Given the description of an element on the screen output the (x, y) to click on. 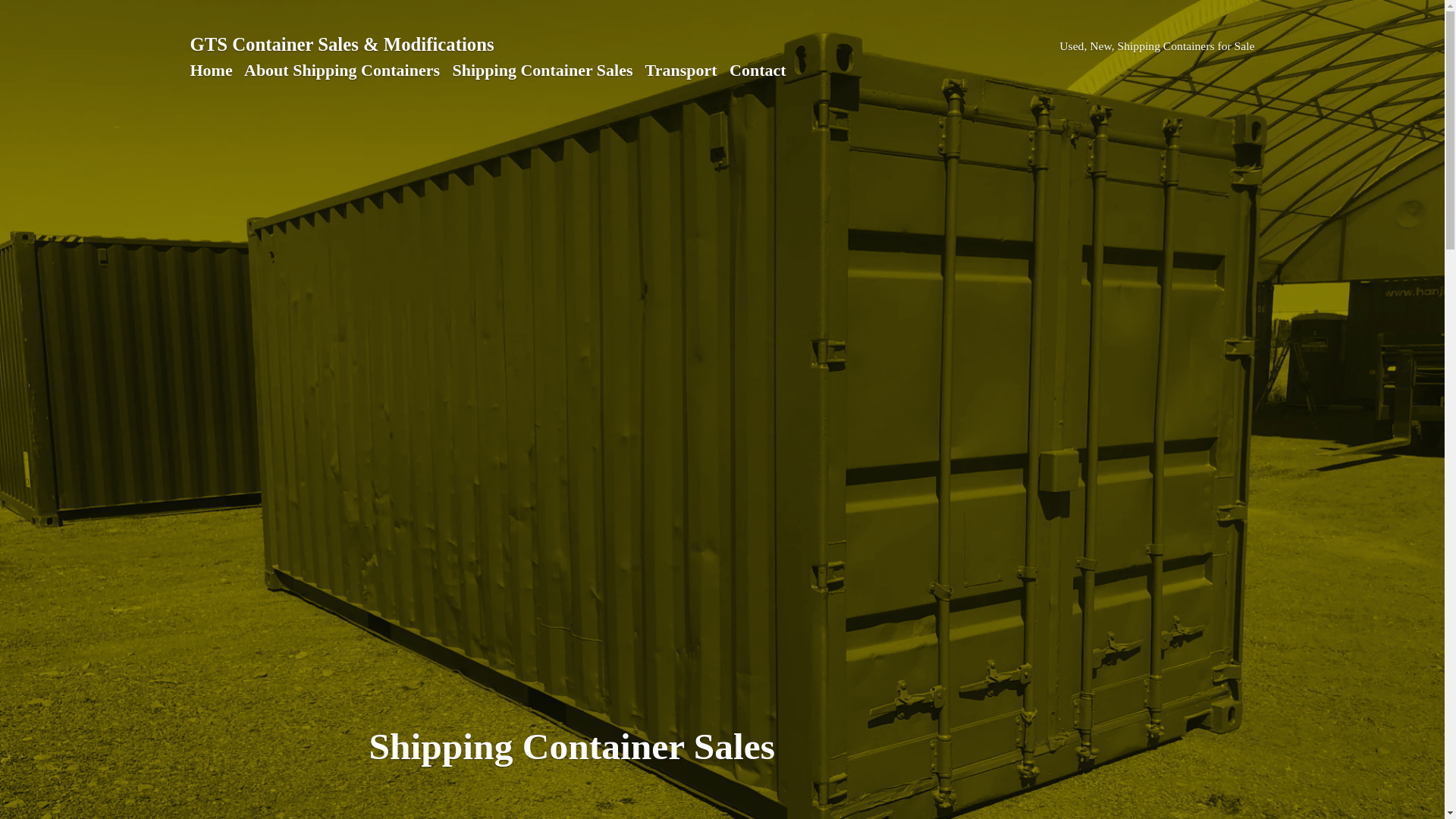
GTS Container Sales & Modifications Element type: text (341, 44)
Home Element type: text (210, 69)
About Shipping Containers Element type: text (341, 69)
Contact Element type: text (757, 69)
Shipping Container Sales Element type: text (541, 69)
Transport Element type: text (681, 69)
